Given the description of an element on the screen output the (x, y) to click on. 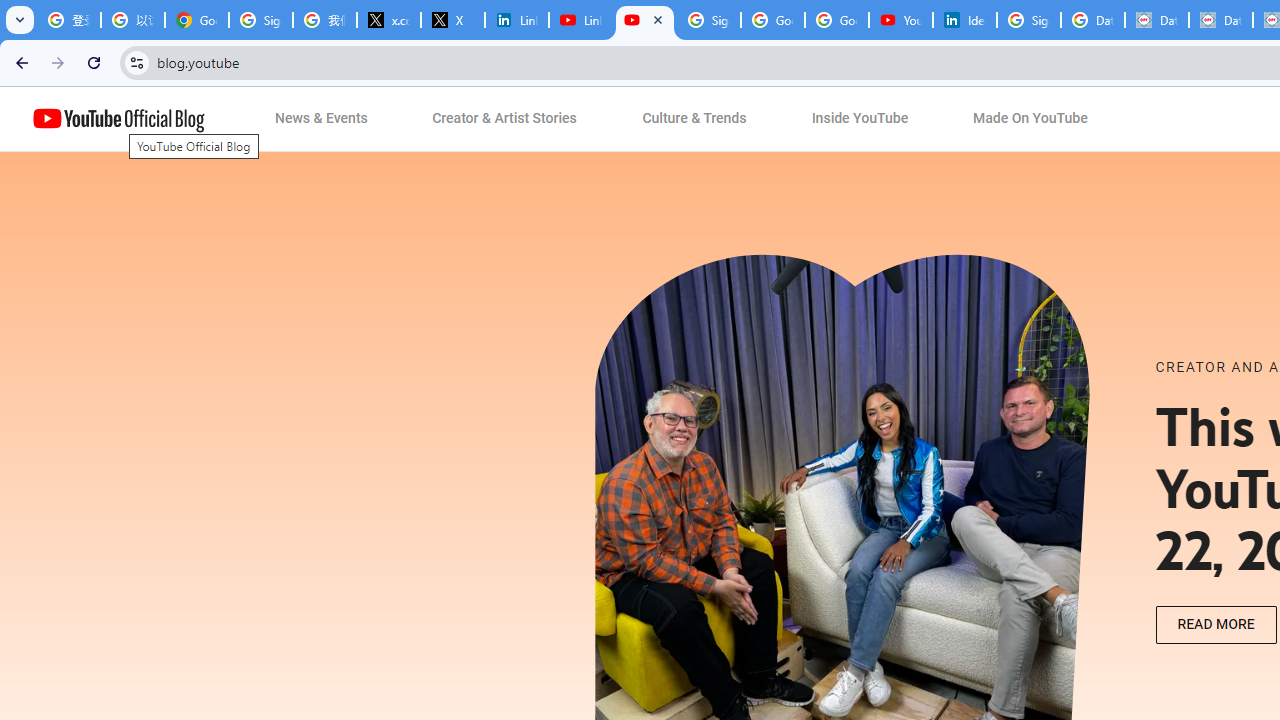
Sign in - Google Accounts (1029, 20)
